Given the description of an element on the screen output the (x, y) to click on. 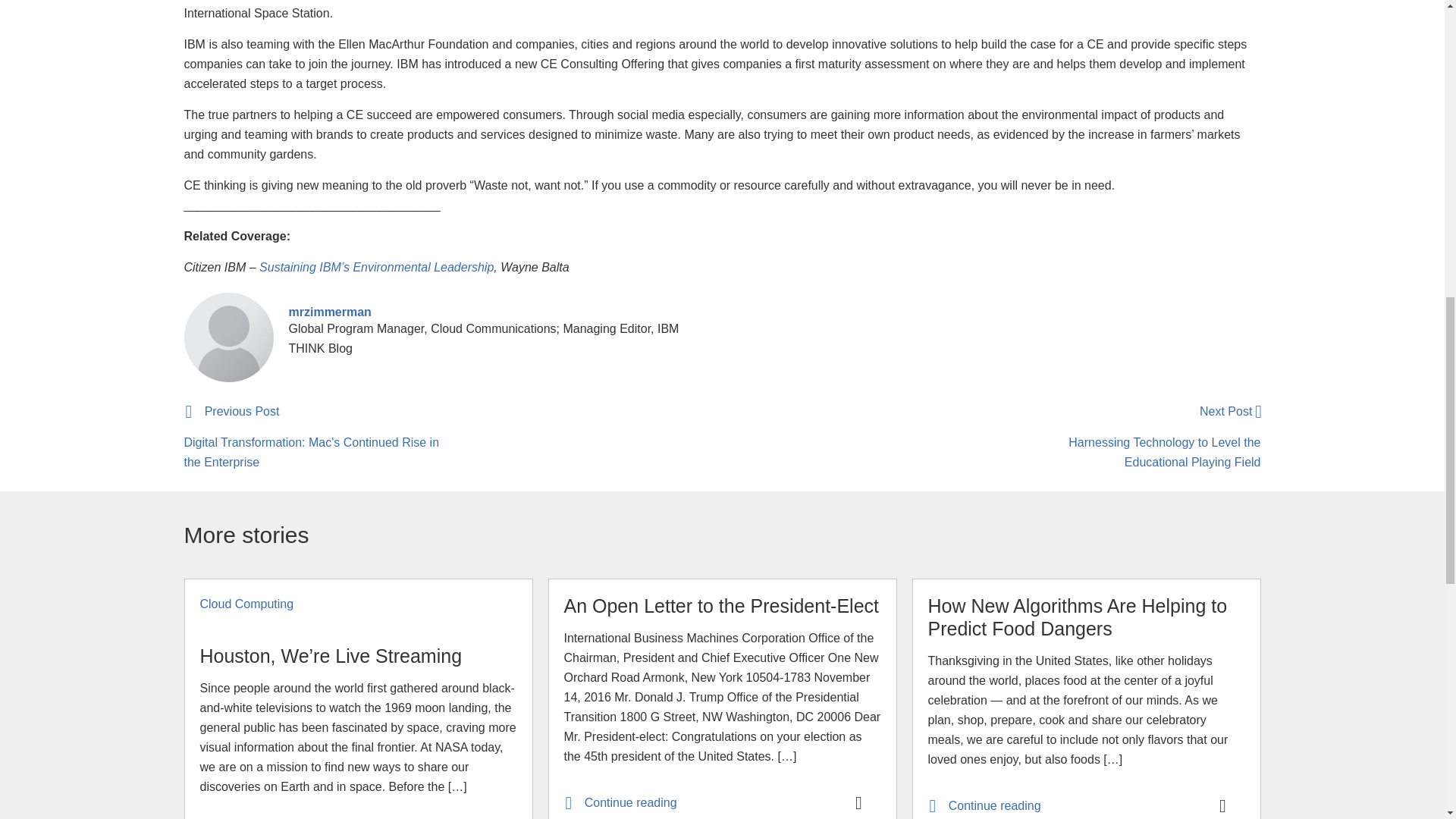
Posts by mrzimmerman (329, 311)
